Given the description of an element on the screen output the (x, y) to click on. 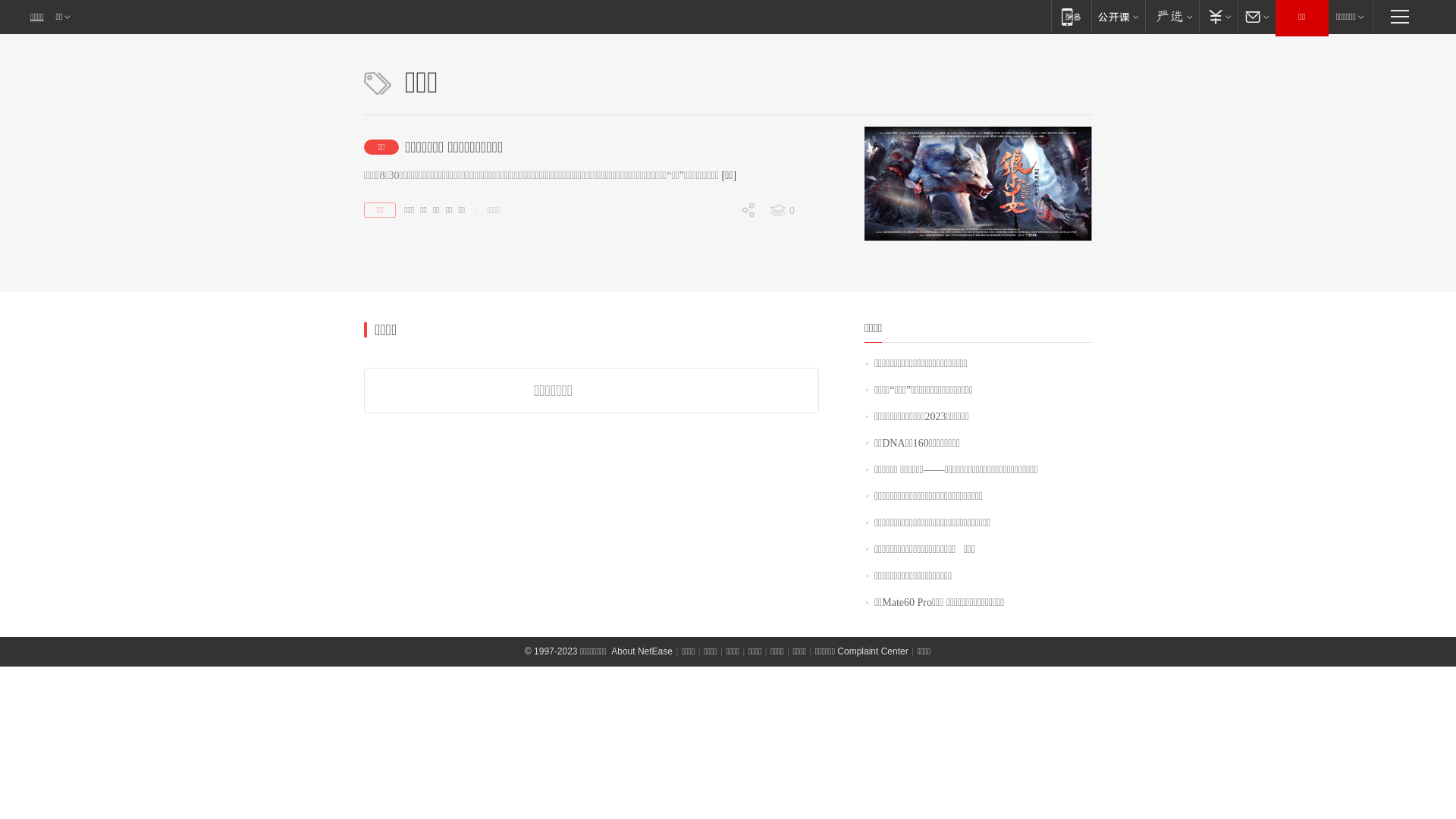
0 Element type: text (792, 210)
0 Element type: text (718, 316)
0 Element type: text (718, 236)
0 Element type: text (718, 289)
About NetEase Element type: text (641, 651)
